Given the description of an element on the screen output the (x, y) to click on. 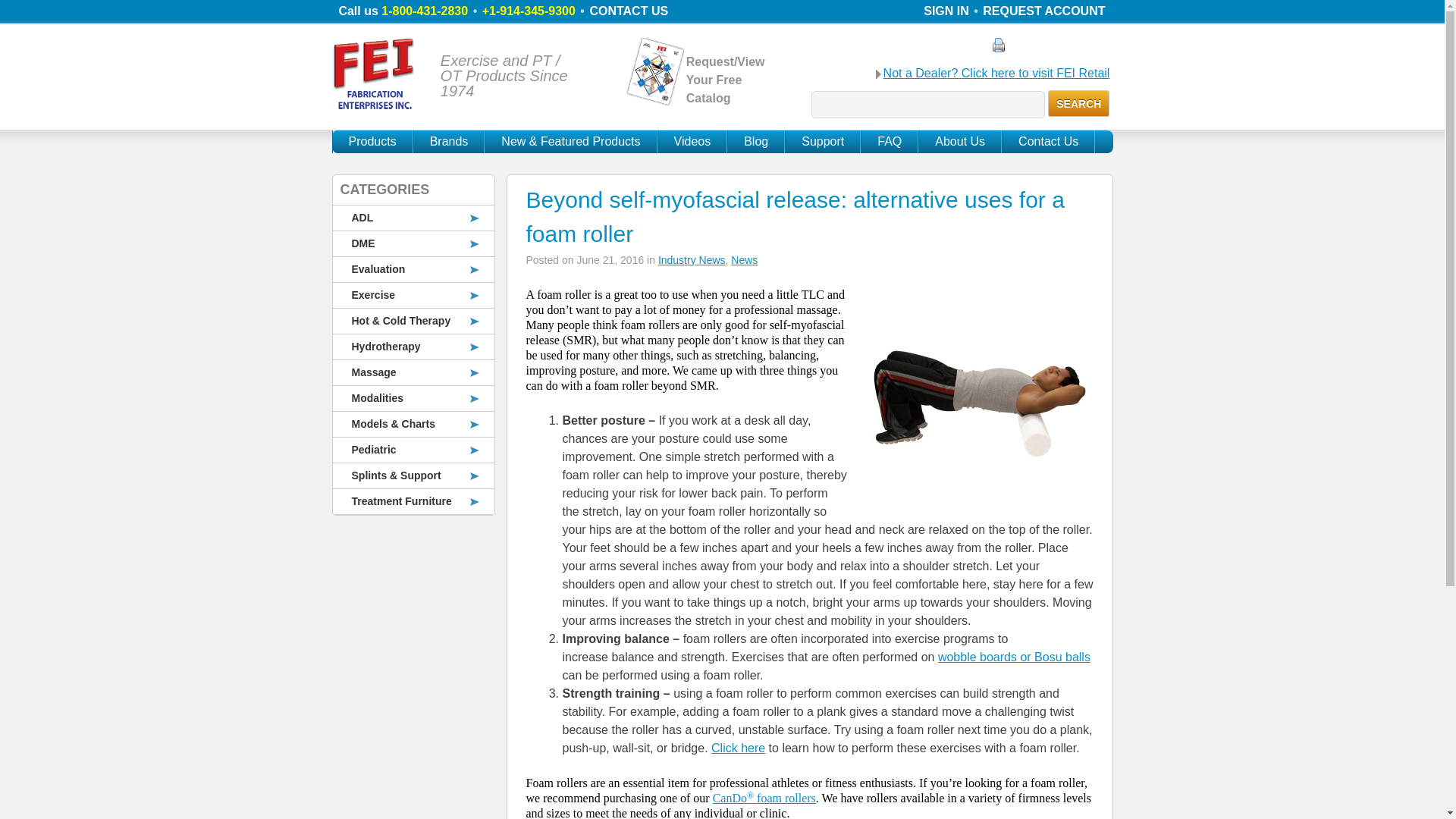
Brands (448, 141)
Videos (693, 141)
View all posts in News (743, 259)
Search (1078, 103)
Products (372, 141)
REQUEST ACCOUNT (1043, 10)
Blog (755, 141)
Search (1078, 103)
SIGN IN (946, 10)
CONTACT US (628, 10)
1-800-431-2830 (424, 10)
View all posts in Industry News (691, 259)
Not a Dealer? Click here to visit FEI Retail (996, 73)
